Given the description of an element on the screen output the (x, y) to click on. 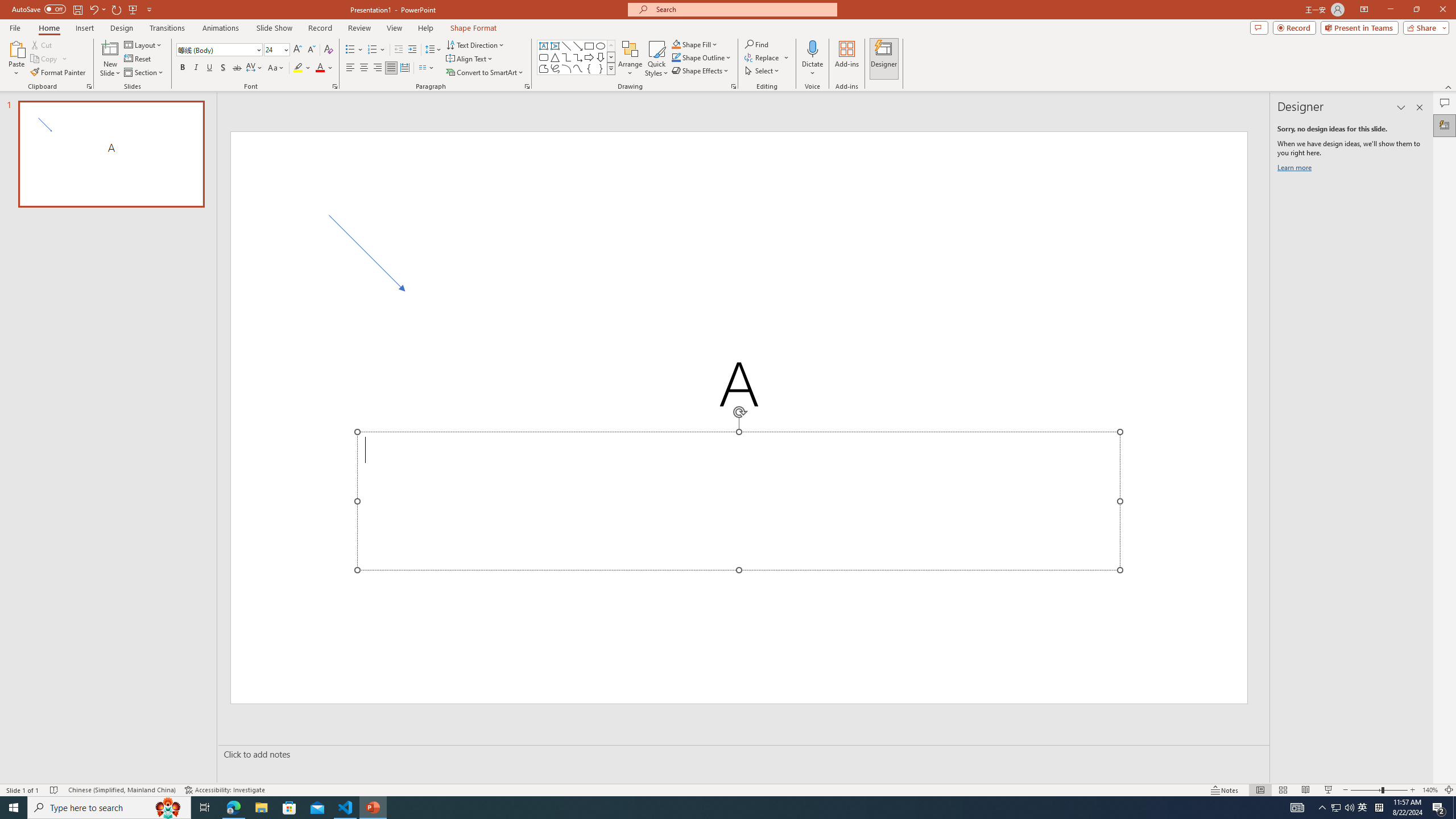
Shape Outline Blue, Accent 1 (675, 56)
Zoom 140% (1430, 790)
Learn more (1295, 169)
